Given the description of an element on the screen output the (x, y) to click on. 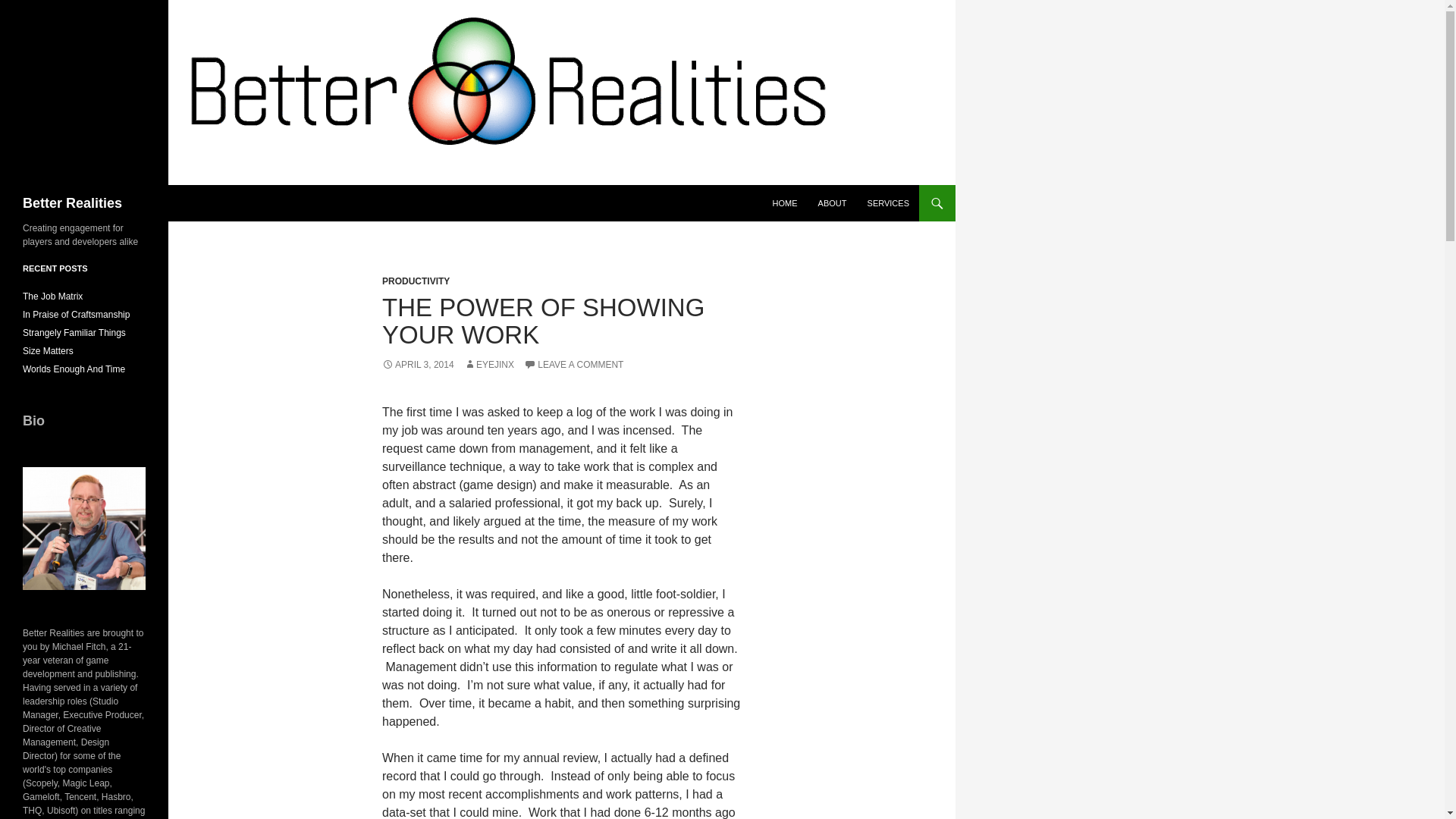
Strangely Familiar Things (74, 332)
Worlds Enough And Time (74, 368)
HOME (784, 203)
The Job Matrix (52, 296)
PRODUCTIVITY (415, 281)
Size Matters (48, 350)
EYEJINX (488, 364)
Better Realities (72, 203)
